Given the description of an element on the screen output the (x, y) to click on. 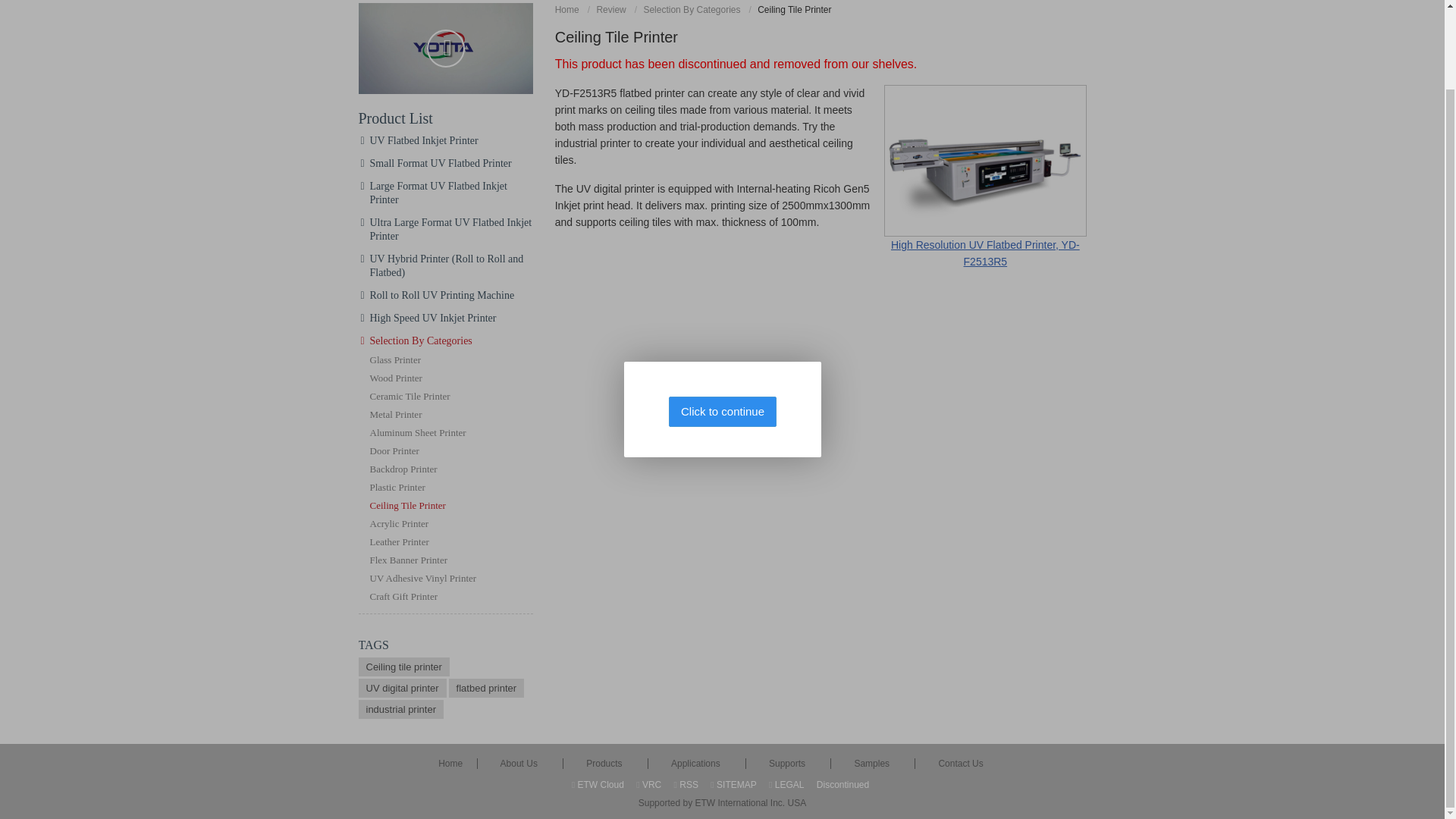
Review (612, 9)
Selection By Categories (693, 9)
High Resolution UV Flatbed Printer, YD-F2513R5 (984, 176)
High Resolution UV Flatbed Printer, YD-F2513R5 (984, 176)
Home (568, 9)
Supported by ETW International Inc. USA (721, 802)
